Given the description of an element on the screen output the (x, y) to click on. 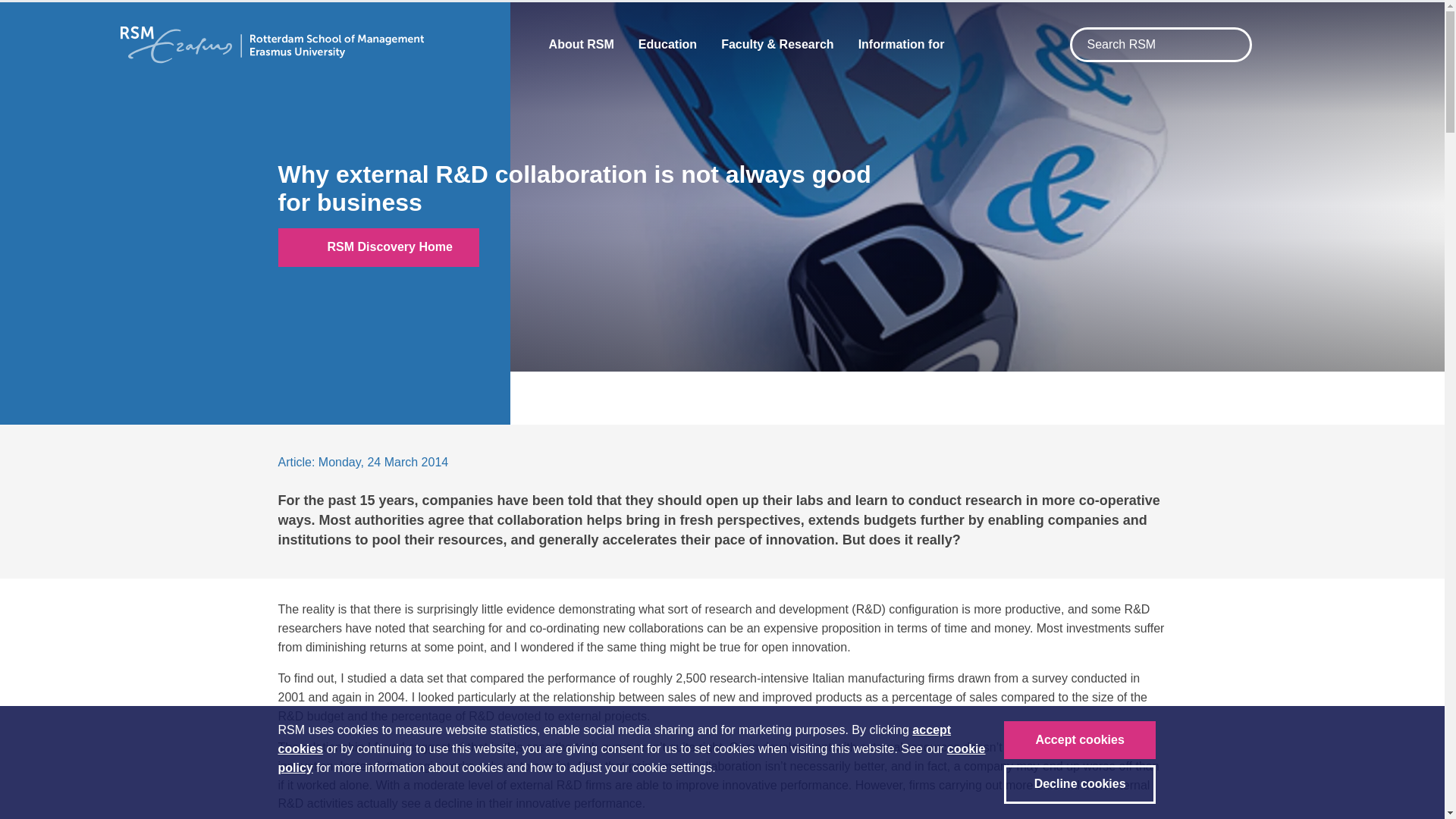
Rotterdam School of Management, Erasmus University (271, 44)
About RSM (581, 44)
Toon pagina in de taal: English (1278, 45)
